Given the description of an element on the screen output the (x, y) to click on. 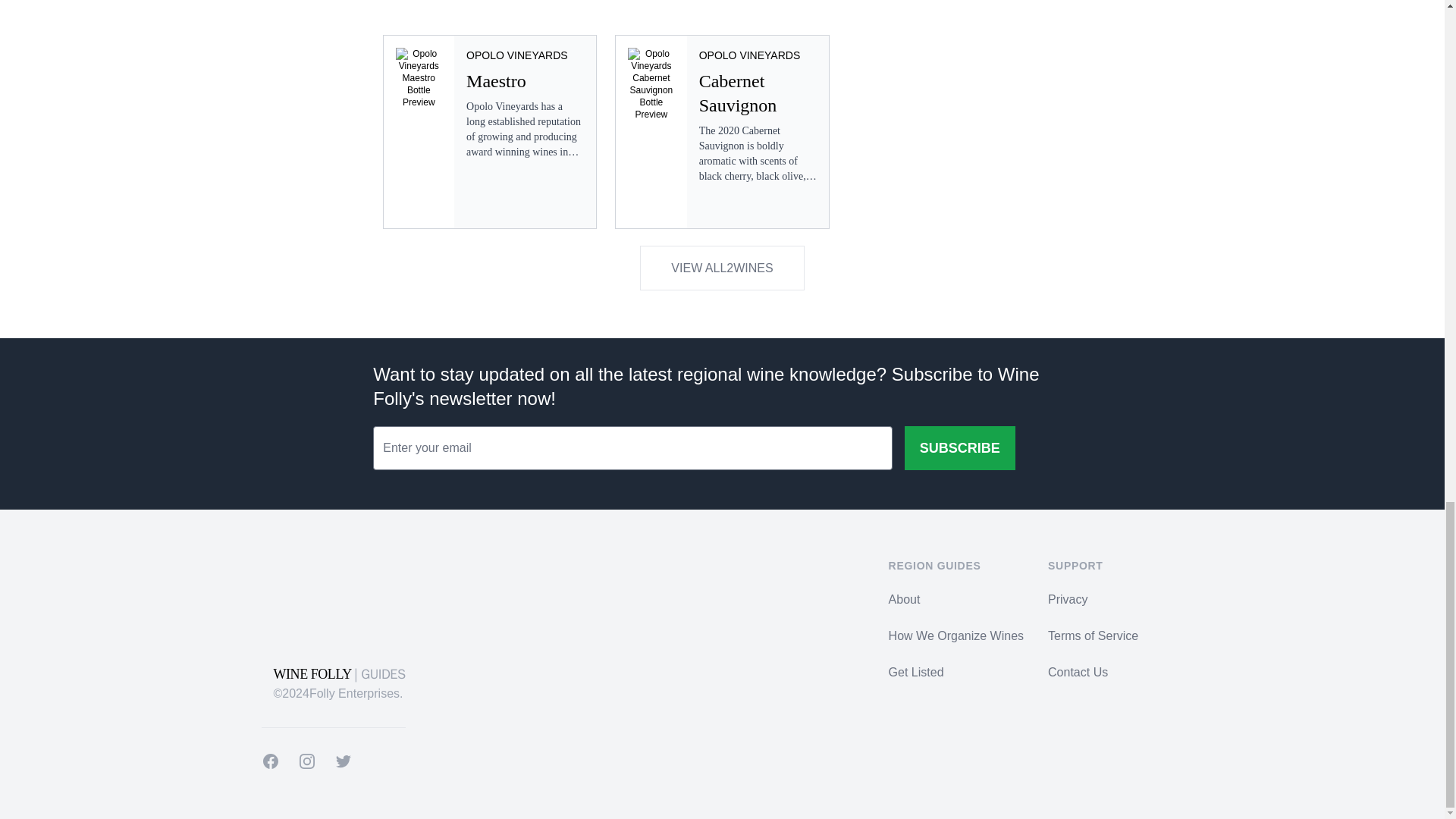
Privacy (1067, 599)
SUBSCRIBE (959, 447)
Terms of Service (1093, 635)
Contact Us (1078, 671)
Instagram (306, 761)
Twitter (342, 761)
Facebook (269, 761)
About (904, 599)
VIEW ALL2WINES (721, 267)
How We Organize Wines (955, 635)
